Given the description of an element on the screen output the (x, y) to click on. 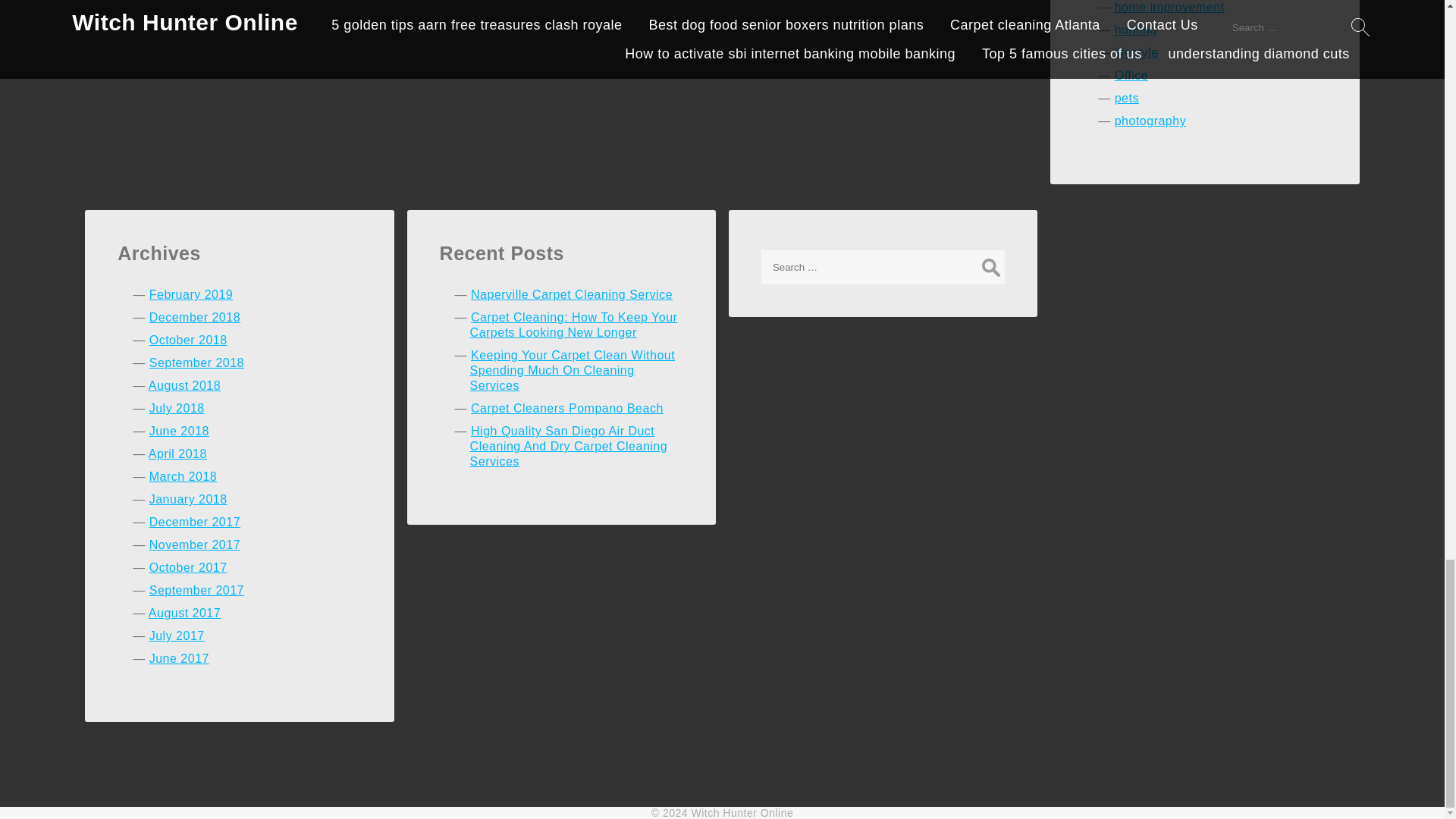
photography (1150, 120)
February 2019 (190, 294)
lifestyle (1136, 51)
October 2018 (188, 339)
December 2018 (194, 317)
September 2018 (196, 362)
home improvement (1169, 6)
August 2018 (184, 385)
hunting (1136, 29)
Office (1131, 74)
